Given the description of an element on the screen output the (x, y) to click on. 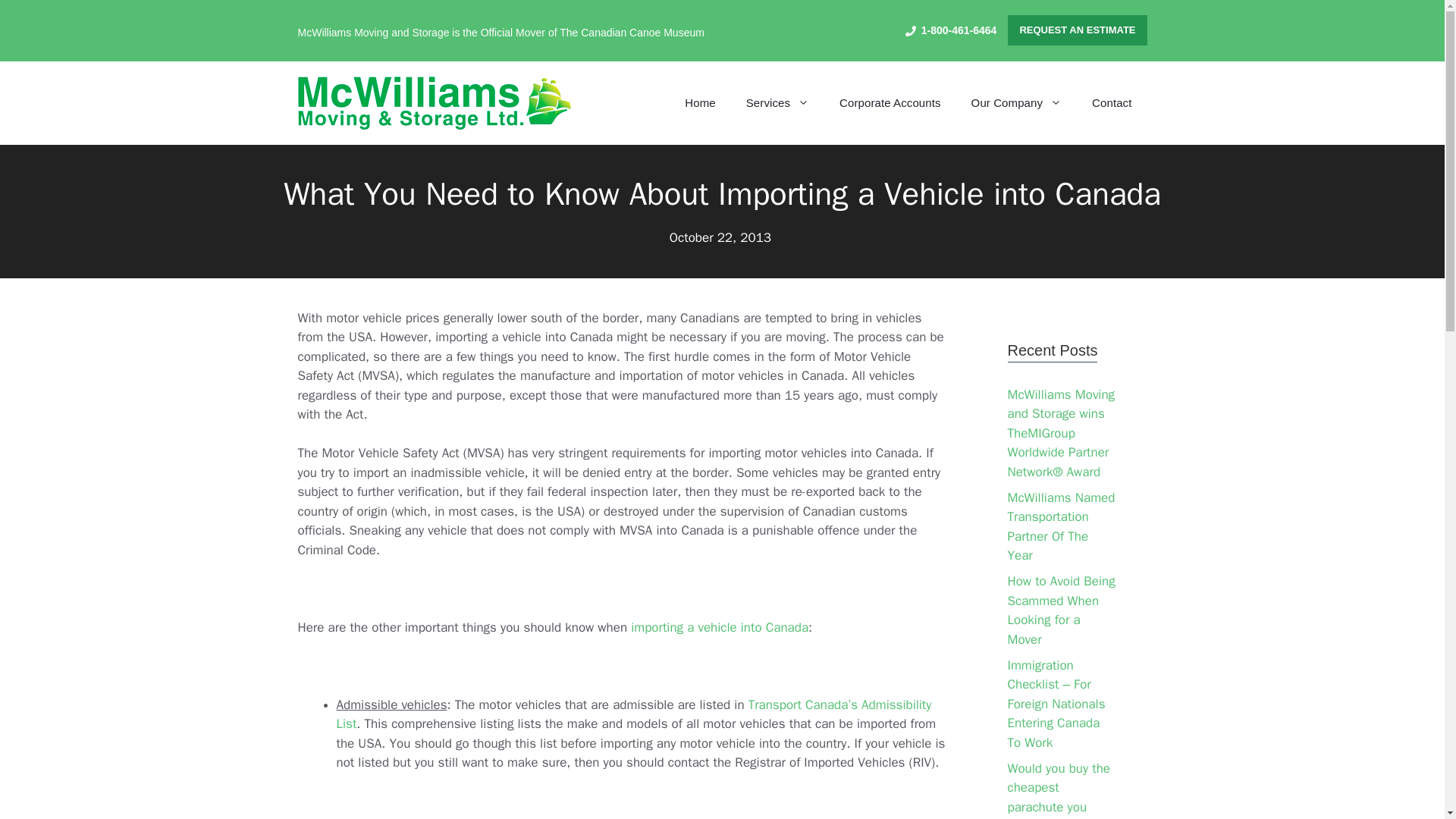
Corporate Accounts (890, 103)
1-800-461-6464 (951, 30)
Home (699, 103)
REQUEST AN ESTIMATE (1077, 30)
Services (777, 103)
Our Company (1016, 103)
Contact (1112, 103)
